Given the description of an element on the screen output the (x, y) to click on. 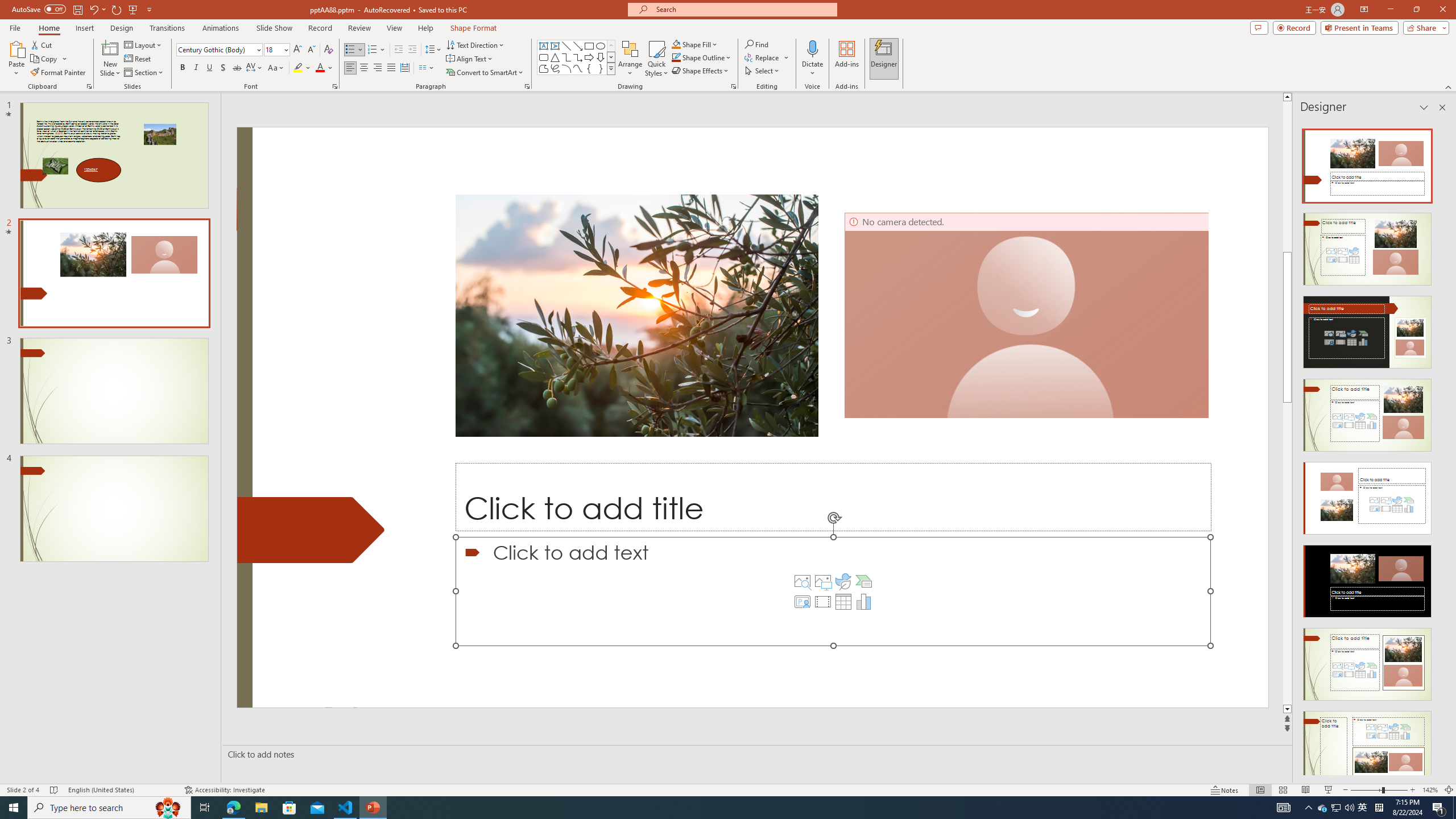
Restore Down (1416, 9)
Page down (1450, 553)
Align Right (377, 67)
Isosceles Triangle (554, 57)
Italic (195, 67)
AutomationID: ShapesInsertGallery (576, 57)
Vertical Text Box (554, 45)
Curve (577, 68)
Oval (600, 45)
